Given the description of an element on the screen output the (x, y) to click on. 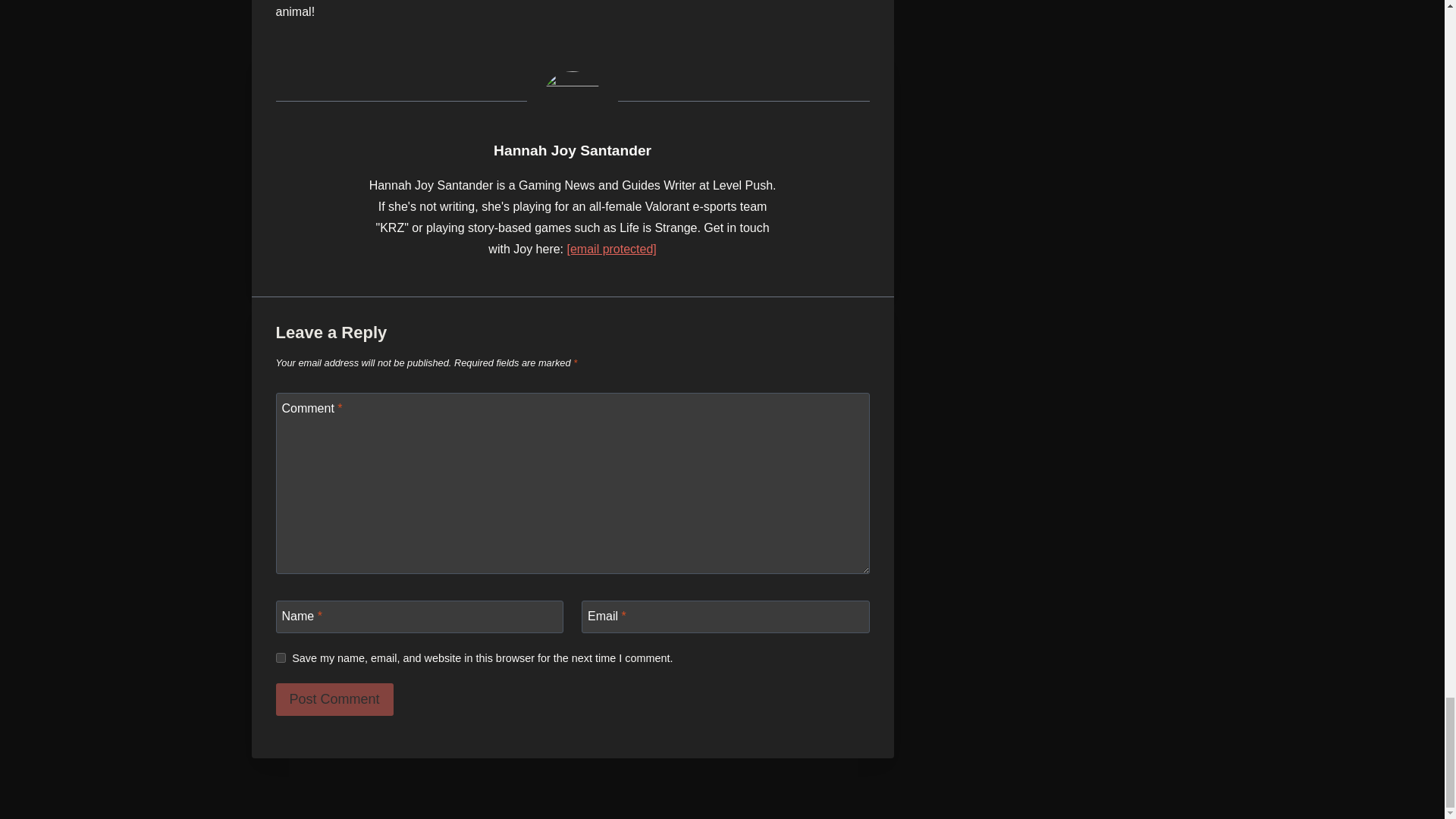
Posts by Hannah Joy Santander (571, 150)
Post Comment (334, 699)
yes (280, 657)
